Given the description of an element on the screen output the (x, y) to click on. 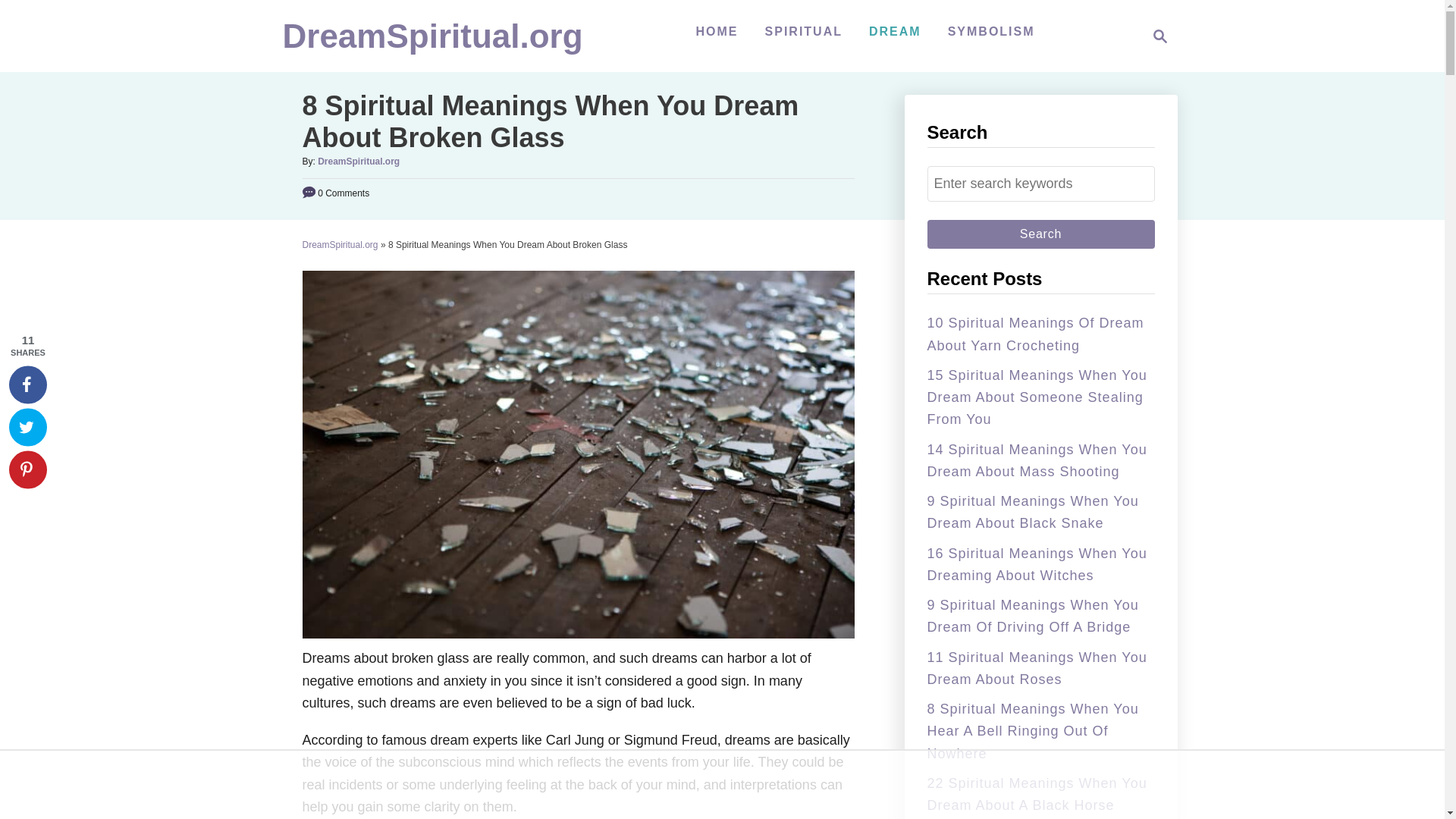
SYMBOLISM (991, 31)
Search (1040, 234)
Search (1040, 234)
DreamSpiritual.org (357, 161)
SPIRITUAL (803, 31)
DreamSpiritual.org (1155, 36)
Magnifying Glass (339, 244)
DreamSpiritual.org (1160, 36)
DreamSpiritual.org (432, 43)
